Given the description of an element on the screen output the (x, y) to click on. 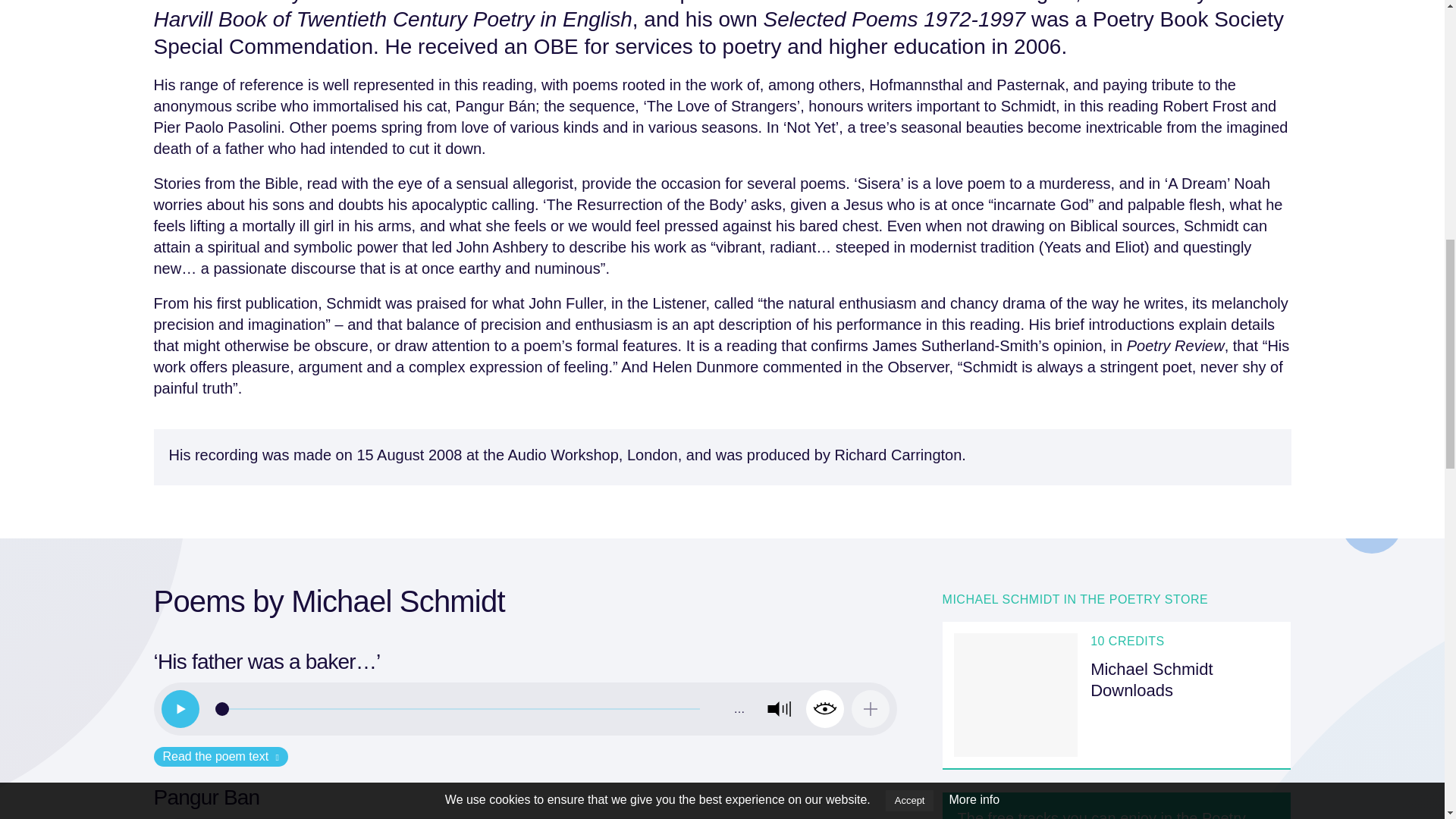
Volume Mute (778, 709)
Become a member to add to a collection (870, 709)
Distraction free (825, 709)
Play (179, 709)
